Given the description of an element on the screen output the (x, y) to click on. 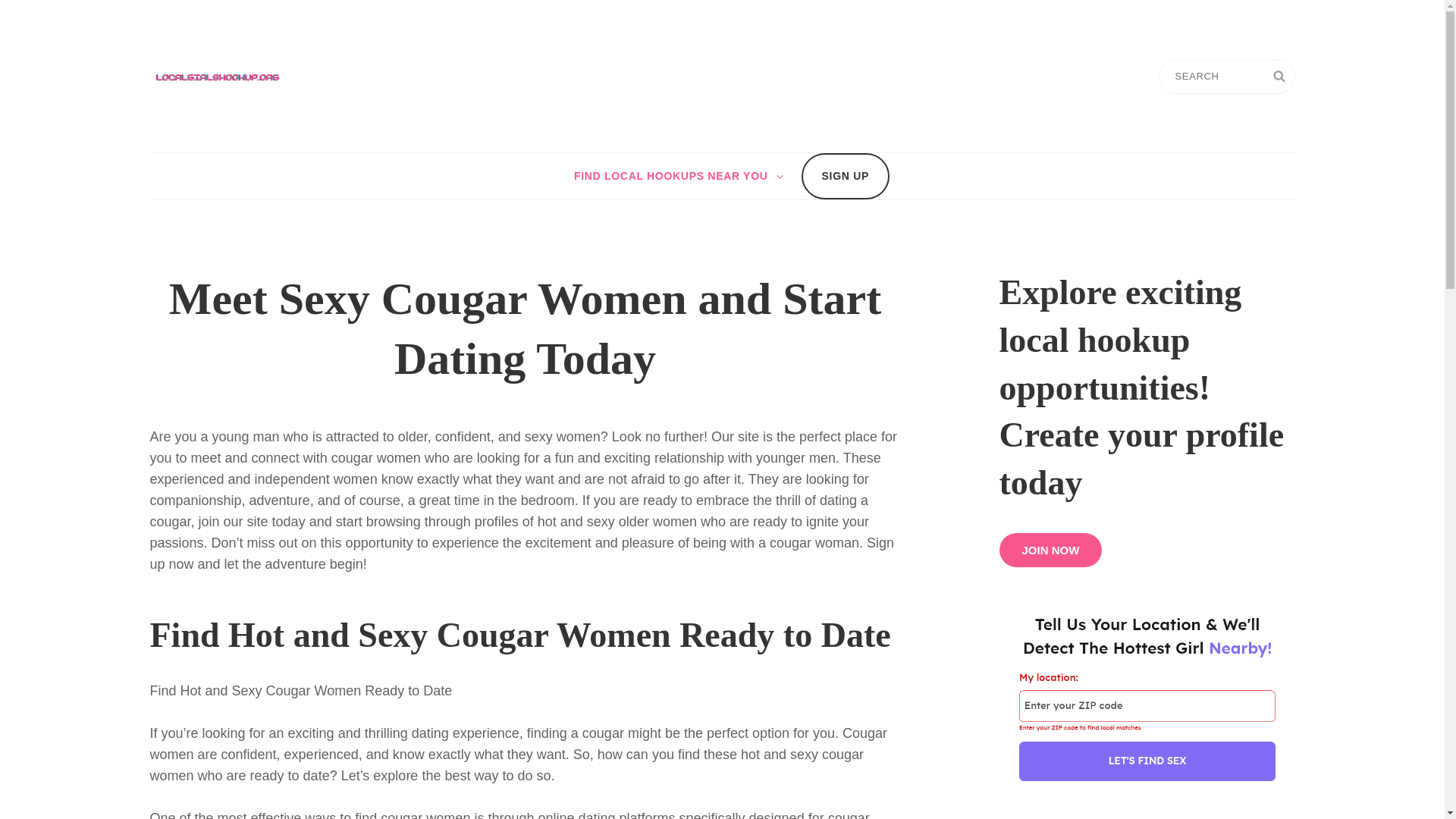
LOCALGIRLSHOOKUP.ORG (458, 75)
SIGN UP (845, 176)
JOIN NOW (1050, 550)
SEARCH (1278, 76)
FIND LOCAL HOOKUPS NEAR YOU (675, 176)
